Given the description of an element on the screen output the (x, y) to click on. 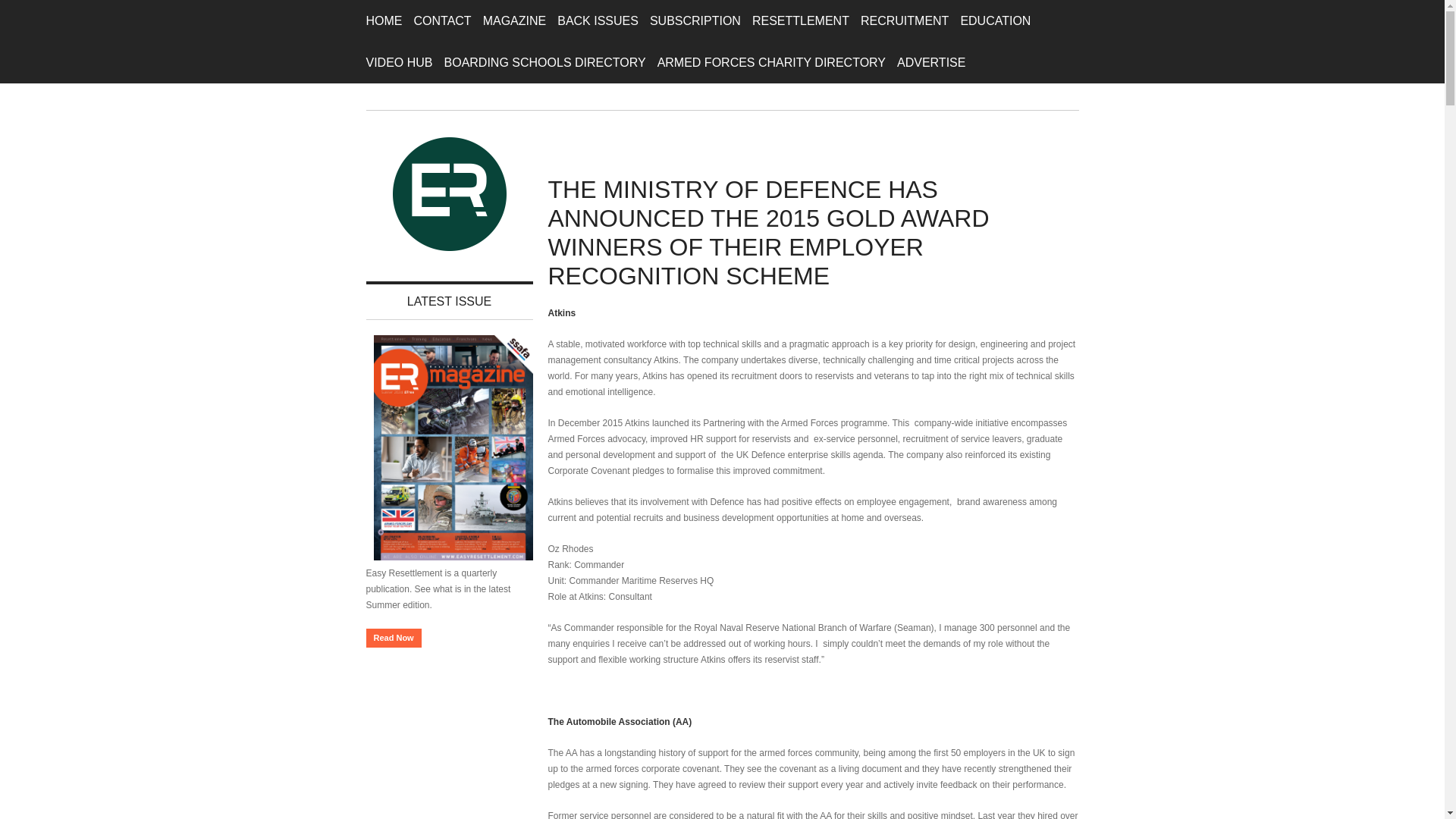
BOARDING SCHOOLS DIRECTORY (545, 62)
ARMED FORCES CHARITY DIRECTORY (771, 62)
CONTACT (442, 20)
RECRUITMENT (904, 20)
SUBSCRIPTION (695, 20)
Read Now (392, 637)
RESETTLEMENT (800, 20)
BACK ISSUES (598, 20)
ADVERTISE (930, 62)
EDUCATION (994, 20)
